Given the description of an element on the screen output the (x, y) to click on. 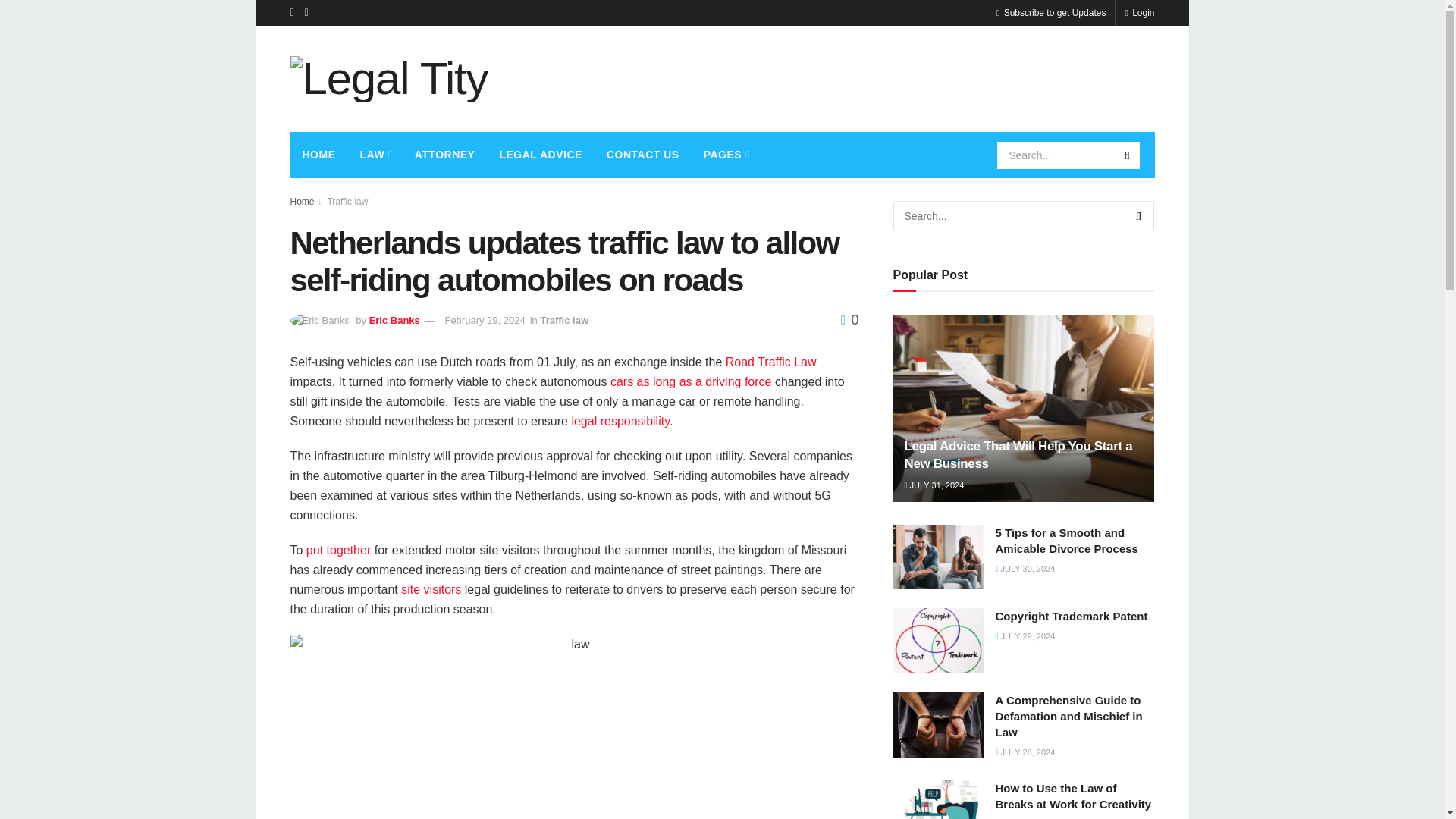
ATTORNEY (445, 154)
5 Tips for a Smooth and Amicable Divorce Process 4 (938, 556)
PAGES (725, 154)
Subscribe to get Updates (1050, 12)
Legal Advice That Will Help You Start a New Business 3 (1023, 408)
Login (1139, 12)
LEGAL ADVICE (540, 154)
How to Use the Law of Breaks at Work for Creativity 7 (938, 799)
HOME (318, 154)
CONTACT US (642, 154)
LAW (374, 154)
A Comprehensive Guide to Defamation and Mischief in Law 6 (938, 724)
